Given the description of an element on the screen output the (x, y) to click on. 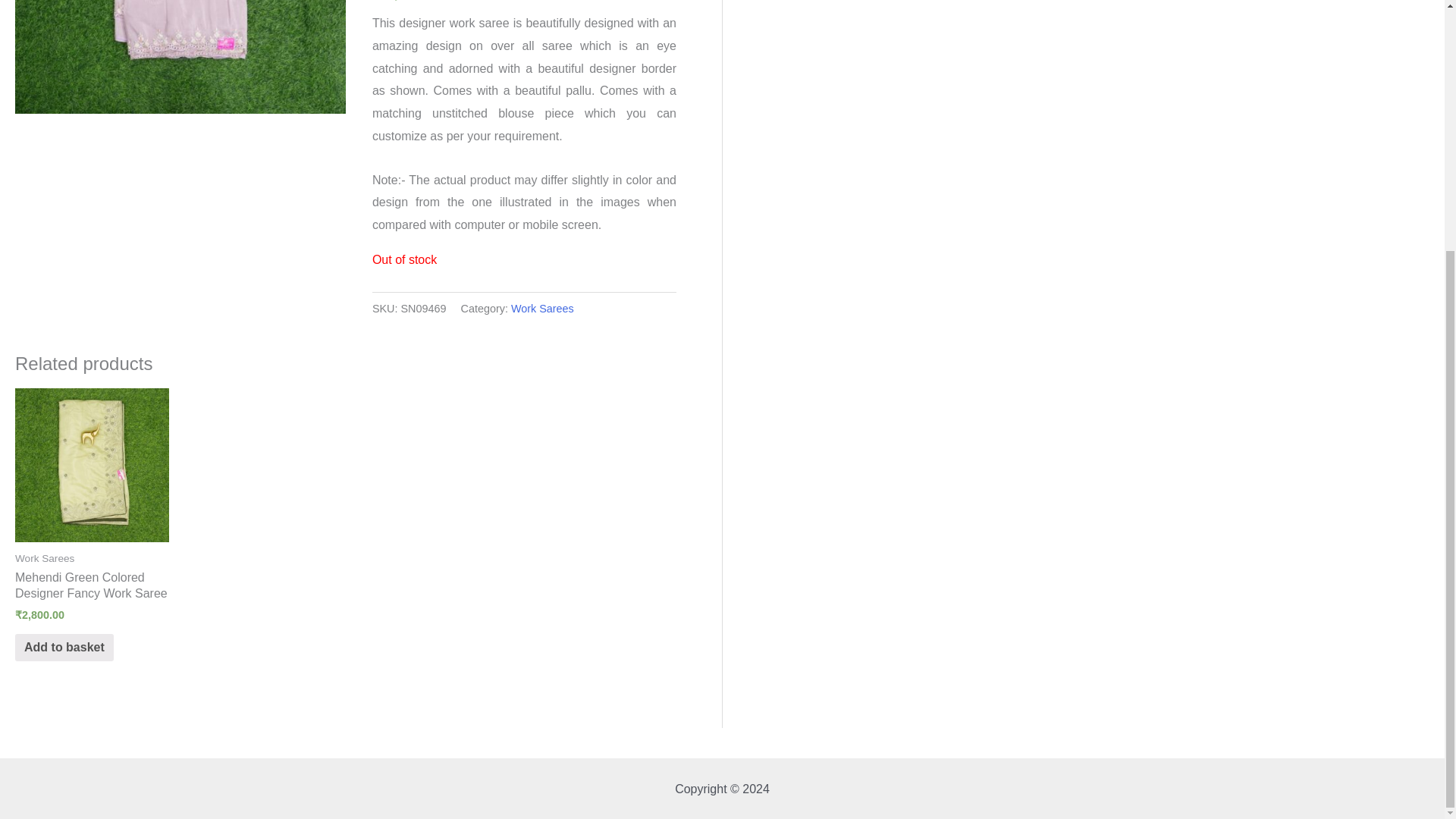
8-1630 (180, 56)
